Given the description of an element on the screen output the (x, y) to click on. 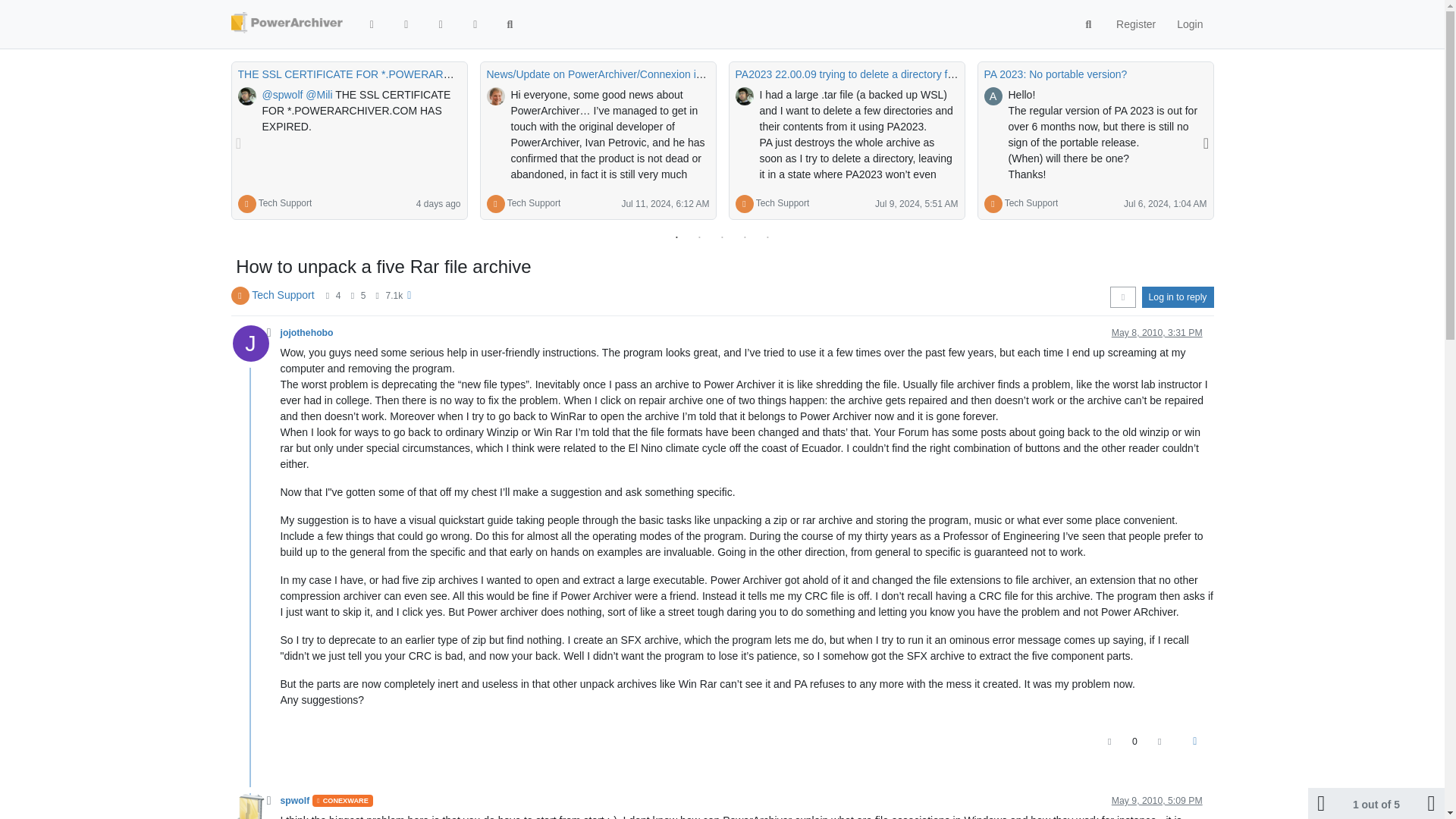
Login (1189, 24)
Tech Support (286, 203)
Tech Support (533, 203)
Tech Support (782, 203)
Recent (405, 24)
Tech Support (286, 203)
A (993, 96)
Brian Gregory (247, 95)
Register (1135, 24)
Popular (475, 24)
